Given the description of an element on the screen output the (x, y) to click on. 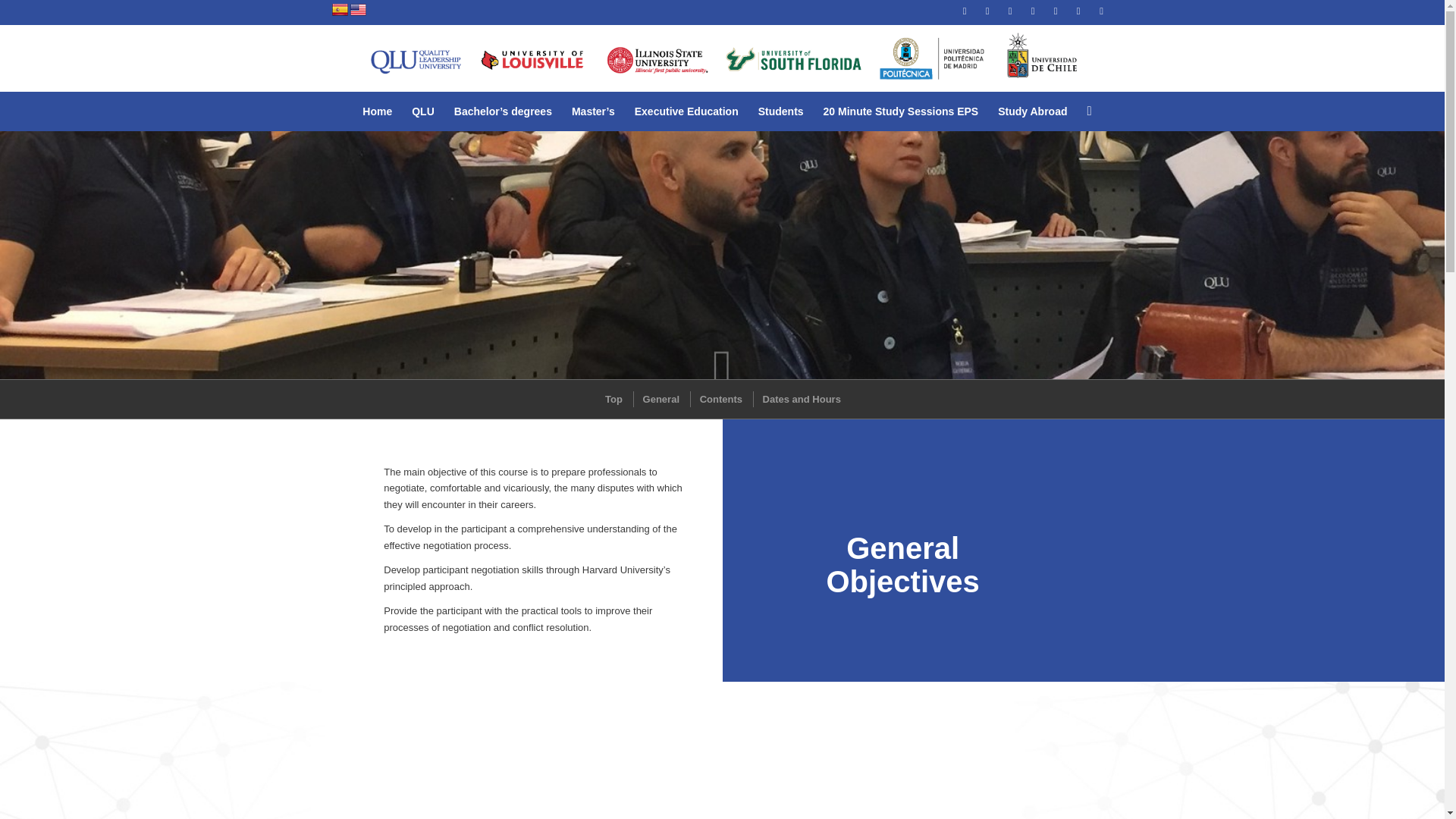
Youtube (1078, 11)
Instagram (1101, 11)
Rss (964, 11)
Linkedin (1056, 11)
QLU (422, 111)
Gplus (987, 11)
Twitter (1032, 11)
Home (376, 111)
Facebook (1010, 11)
